Given the description of an element on the screen output the (x, y) to click on. 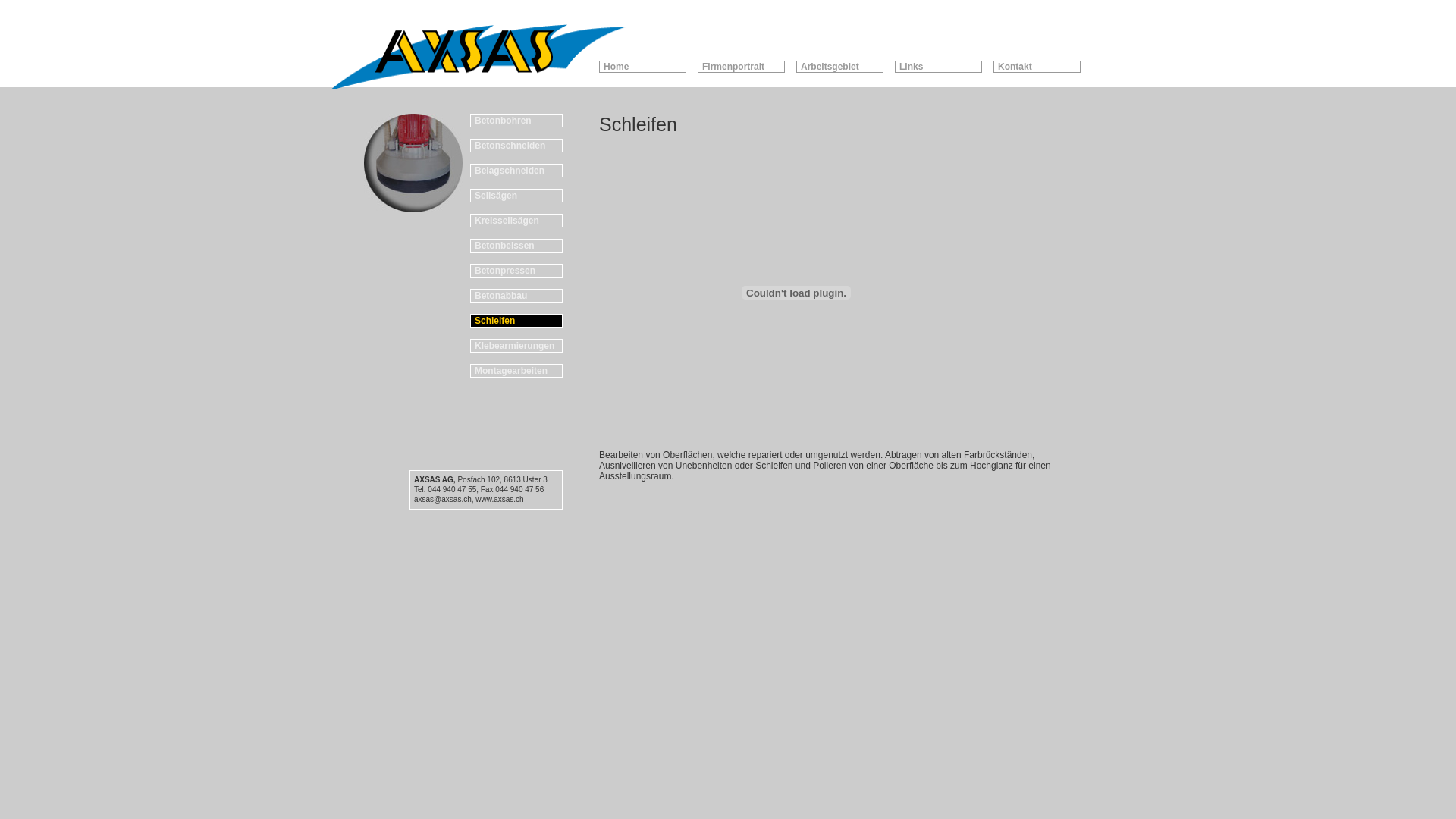
Betonbohren Element type: text (516, 120)
Betonschneiden Element type: text (516, 145)
Betonabbau Element type: text (516, 295)
Betonpressen Element type: text (516, 270)
Firmenportrait Element type: text (740, 66)
Montagearbeiten Element type: text (516, 370)
Klebearmierungen Element type: text (516, 345)
Kontakt Element type: text (1036, 66)
Belagschneiden Element type: text (516, 170)
Home Element type: text (642, 66)
Betonbeissen Element type: text (516, 245)
Links Element type: text (938, 66)
Arbeitsgebiet Element type: text (839, 66)
